Given the description of an element on the screen output the (x, y) to click on. 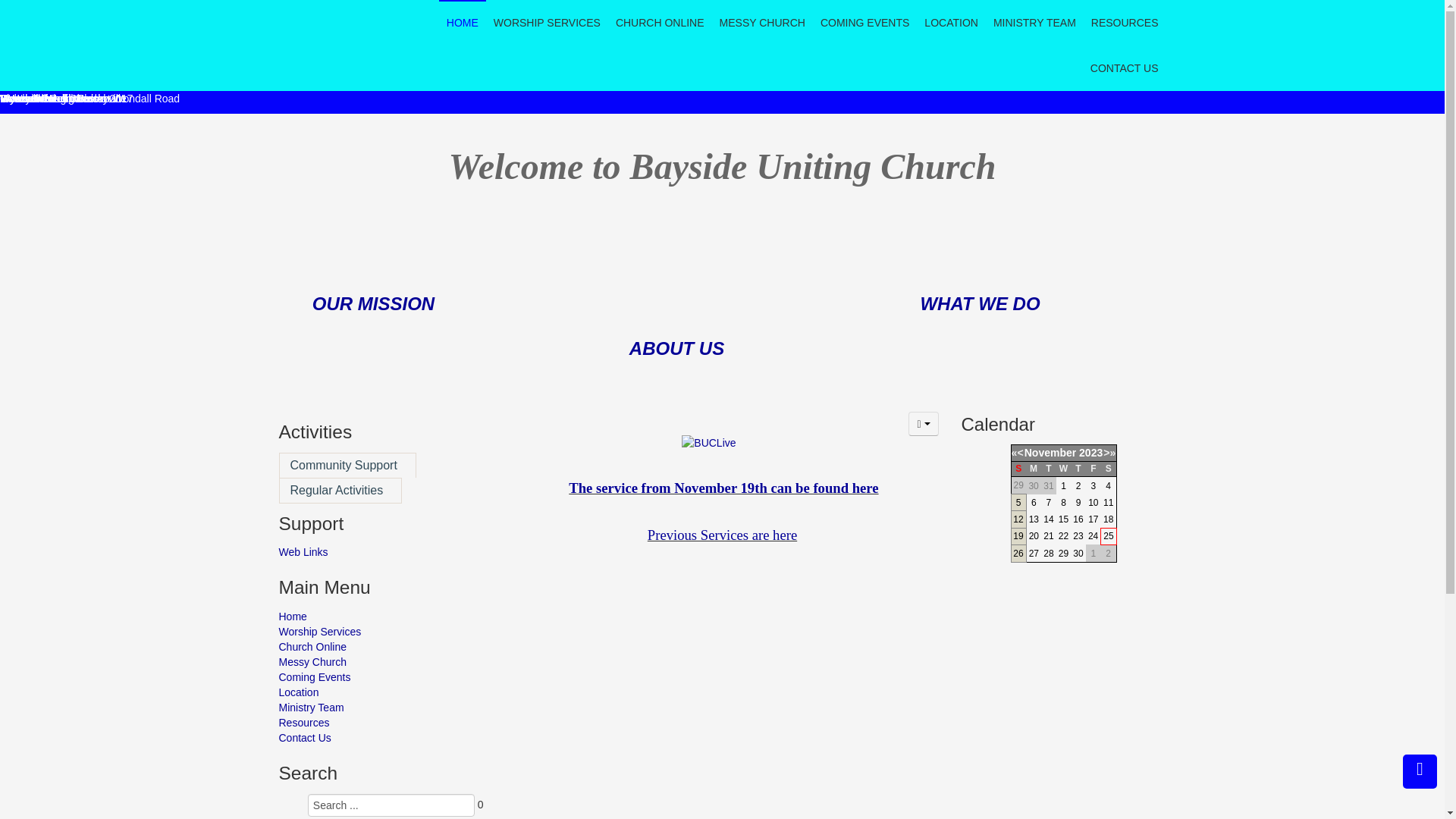
14 Element type: text (1048, 519)
Location Element type: text (381, 691)
2023 Element type: text (1090, 452)
13 Element type: text (1033, 519)
OUR MISSION Element type: text (373, 306)
19 Element type: text (1017, 535)
16 Element type: text (1077, 519)
Resources Element type: text (381, 722)
COMING EVENTS Element type: text (864, 22)
MINISTRY TEAM Element type: text (1034, 22)
LOCATION Element type: text (951, 22)
28 Element type: text (1048, 553)
Ministry Team Element type: text (381, 707)
27 Element type: text (1033, 553)
21 Element type: text (1048, 535)
25 Element type: text (1108, 535)
30 Element type: text (1077, 553)
17 Element type: text (1093, 519)
4 Element type: text (1107, 485)
5 Element type: text (1018, 502)
Coming Events Element type: text (381, 676)
11 Element type: text (1108, 502)
8 Element type: text (1063, 502)
ABOUT US Element type: text (676, 351)
Previous Services are here Element type: text (722, 534)
November Element type: text (1050, 452)
CHURCH ONLINE Element type: text (659, 22)
RESOURCES Element type: text (1124, 22)
9 Element type: text (1078, 502)
29 Element type: text (1063, 553)
Contact Us Element type: text (381, 737)
MESSY CHURCH Element type: text (762, 22)
The service from November 19th can be found here Element type: text (723, 487)
15 Element type: text (1063, 519)
Community Support Element type: text (347, 464)
CONTACT US Element type: text (1124, 68)
26 Element type: text (1017, 553)
Church Online Element type: text (381, 646)
WHAT WE DO Element type: text (979, 303)
6 Element type: text (1033, 502)
Worship Services Element type: text (381, 631)
HOME Element type: text (462, 22)
10 Element type: text (1093, 502)
12 Element type: text (1017, 519)
23 Element type: text (1077, 535)
1 Element type: text (1063, 485)
3 Element type: text (1092, 485)
Messy Church Element type: text (381, 661)
22 Element type: text (1063, 535)
2 Element type: text (1078, 485)
18 Element type: text (1108, 519)
Home Element type: text (381, 616)
Web Links Element type: text (381, 551)
WORSHIP SERVICES Element type: text (546, 22)
20 Element type: text (1033, 535)
7 Element type: text (1048, 502)
Regular Activities Element type: text (340, 490)
24 Element type: text (1093, 535)
